Given the description of an element on the screen output the (x, y) to click on. 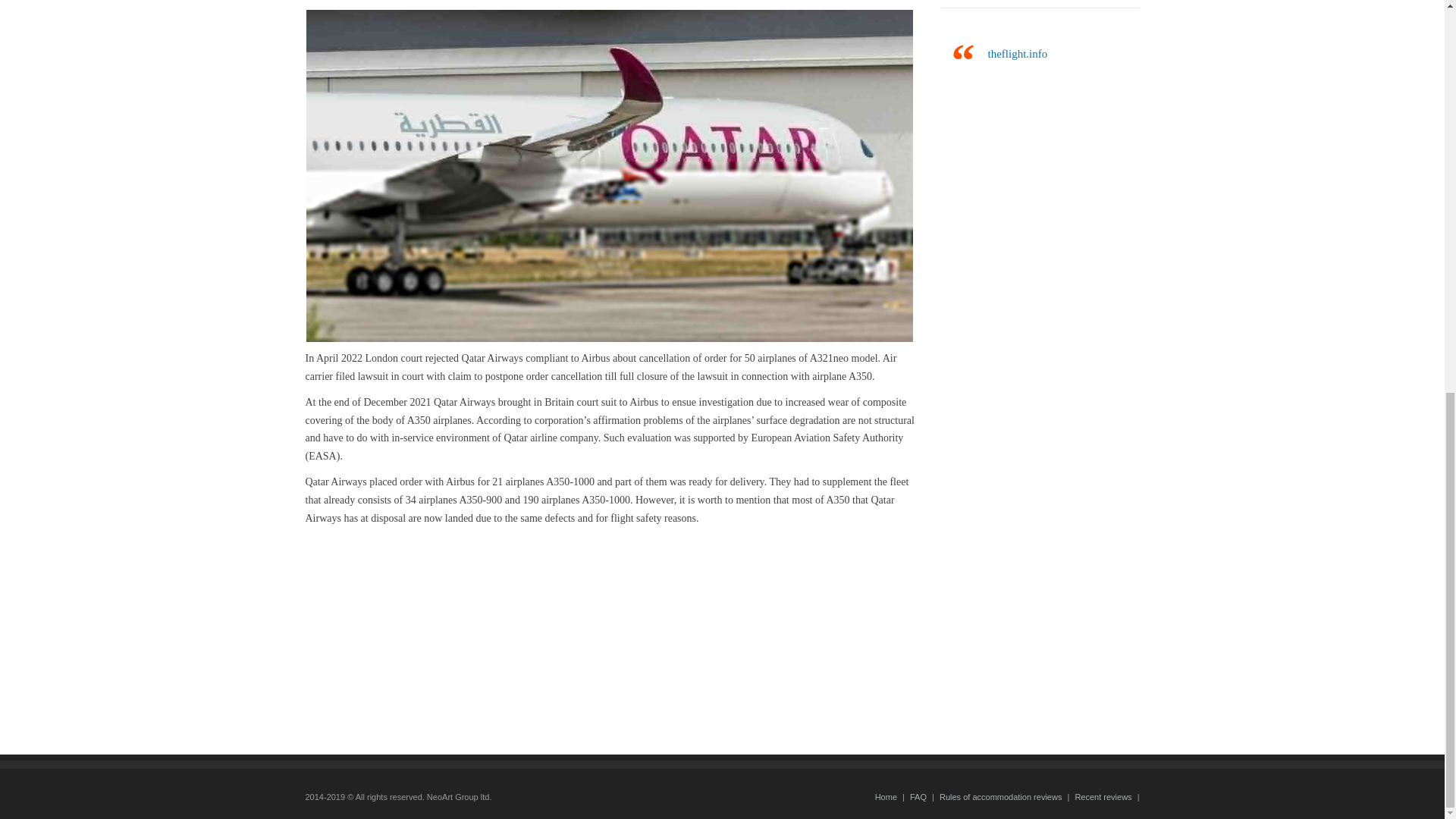
FAQ (918, 796)
Rules of accommodation reviews (1000, 796)
theflight.info (1016, 53)
Recent reviews (1102, 796)
Home (885, 796)
